Given the description of an element on the screen output the (x, y) to click on. 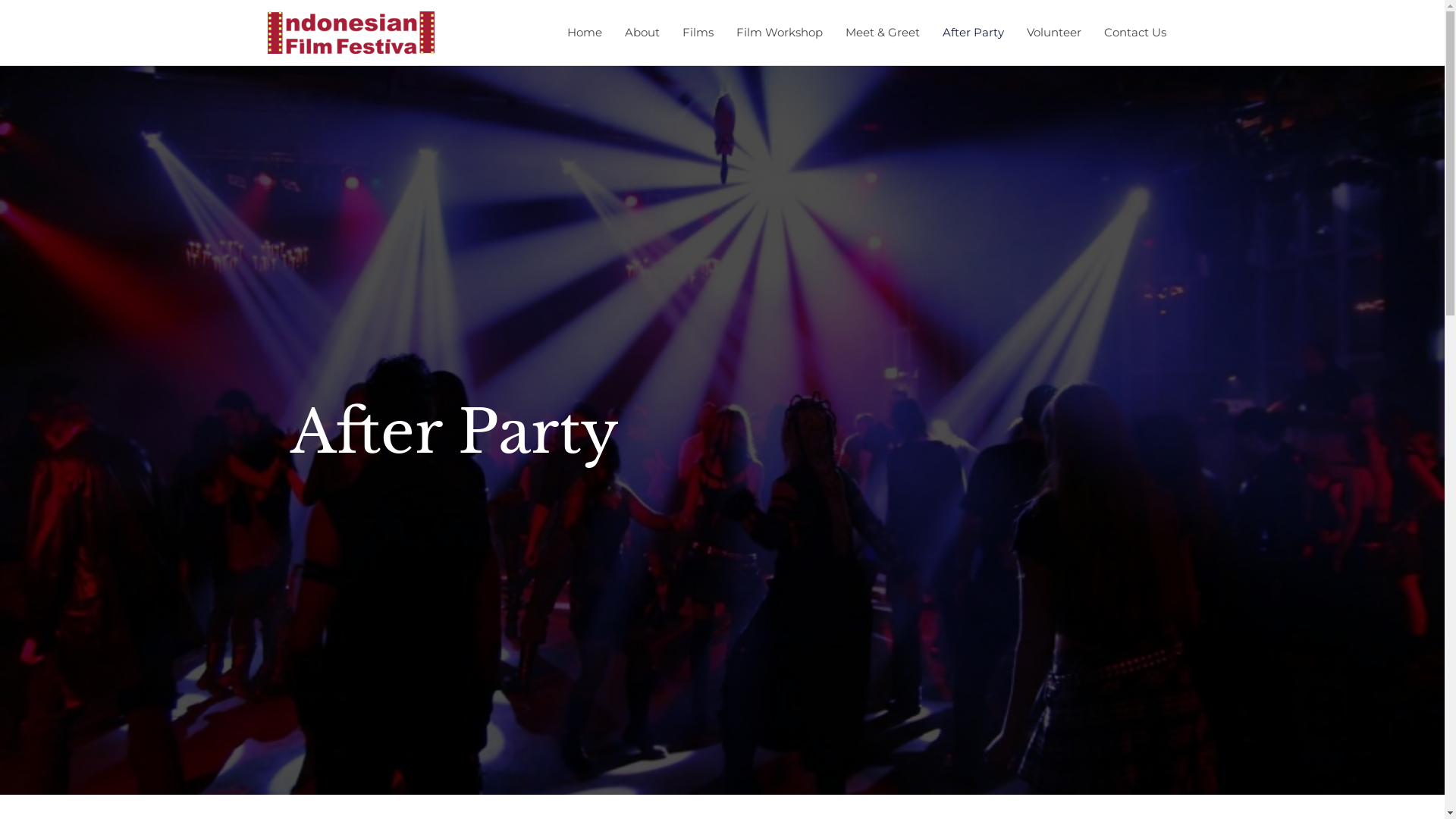
Film Workshop Element type: text (779, 32)
Films Element type: text (697, 32)
Volunteer Element type: text (1053, 32)
About Element type: text (641, 32)
Meet & Greet Element type: text (882, 32)
After Party Element type: text (973, 32)
Contact Us Element type: text (1134, 32)
Home Element type: text (583, 32)
